Given the description of an element on the screen output the (x, y) to click on. 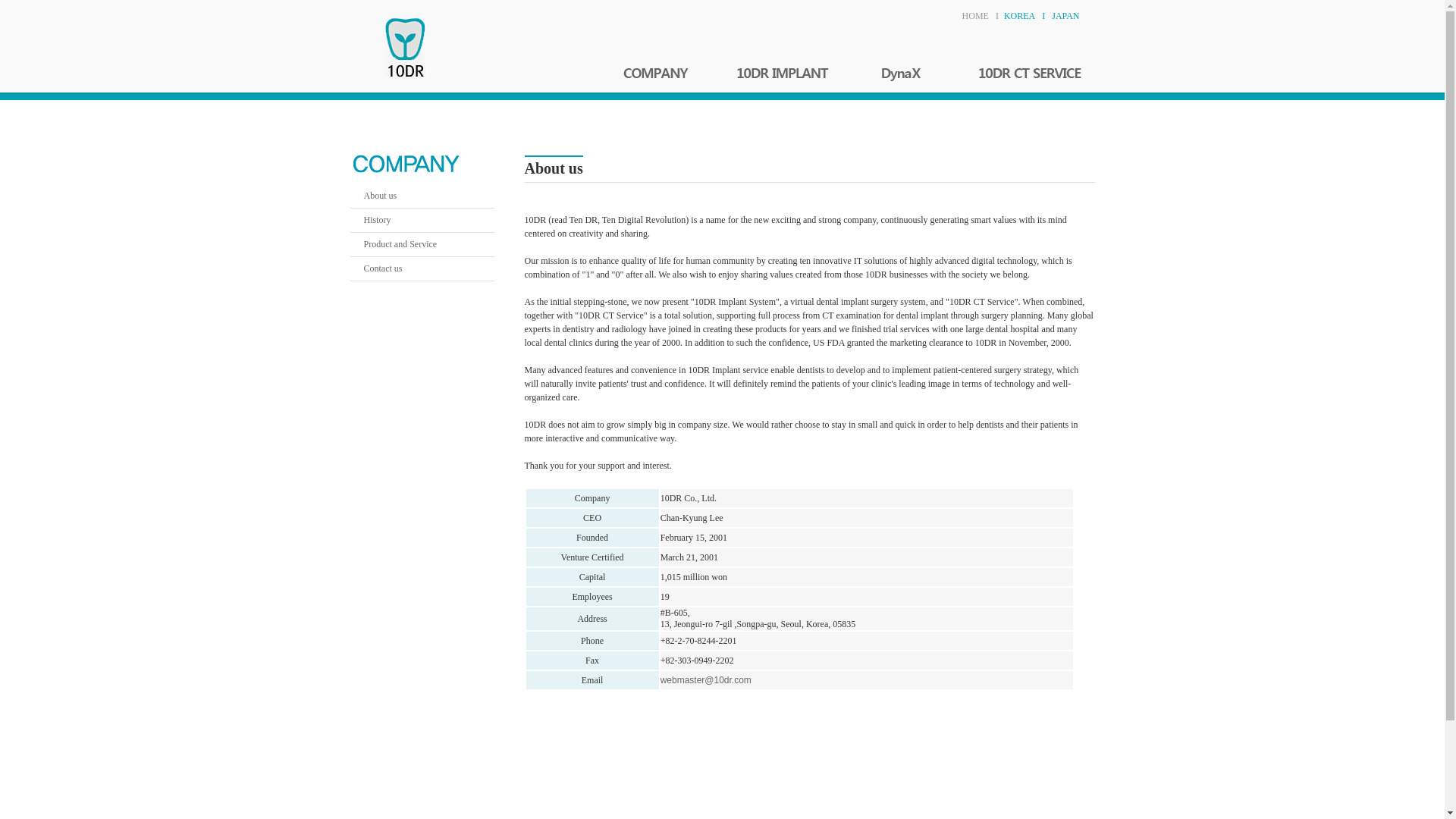
About us Element type: text (422, 195)
Product and Service Element type: text (422, 244)
History Element type: text (422, 220)
Contact us Element type: text (422, 268)
JAPAN Element type: text (1065, 15)
KOREA Element type: text (1019, 15)
HOME Element type: text (975, 15)
webmaster@10dr.com Element type: text (705, 679)
